Given the description of an element on the screen output the (x, y) to click on. 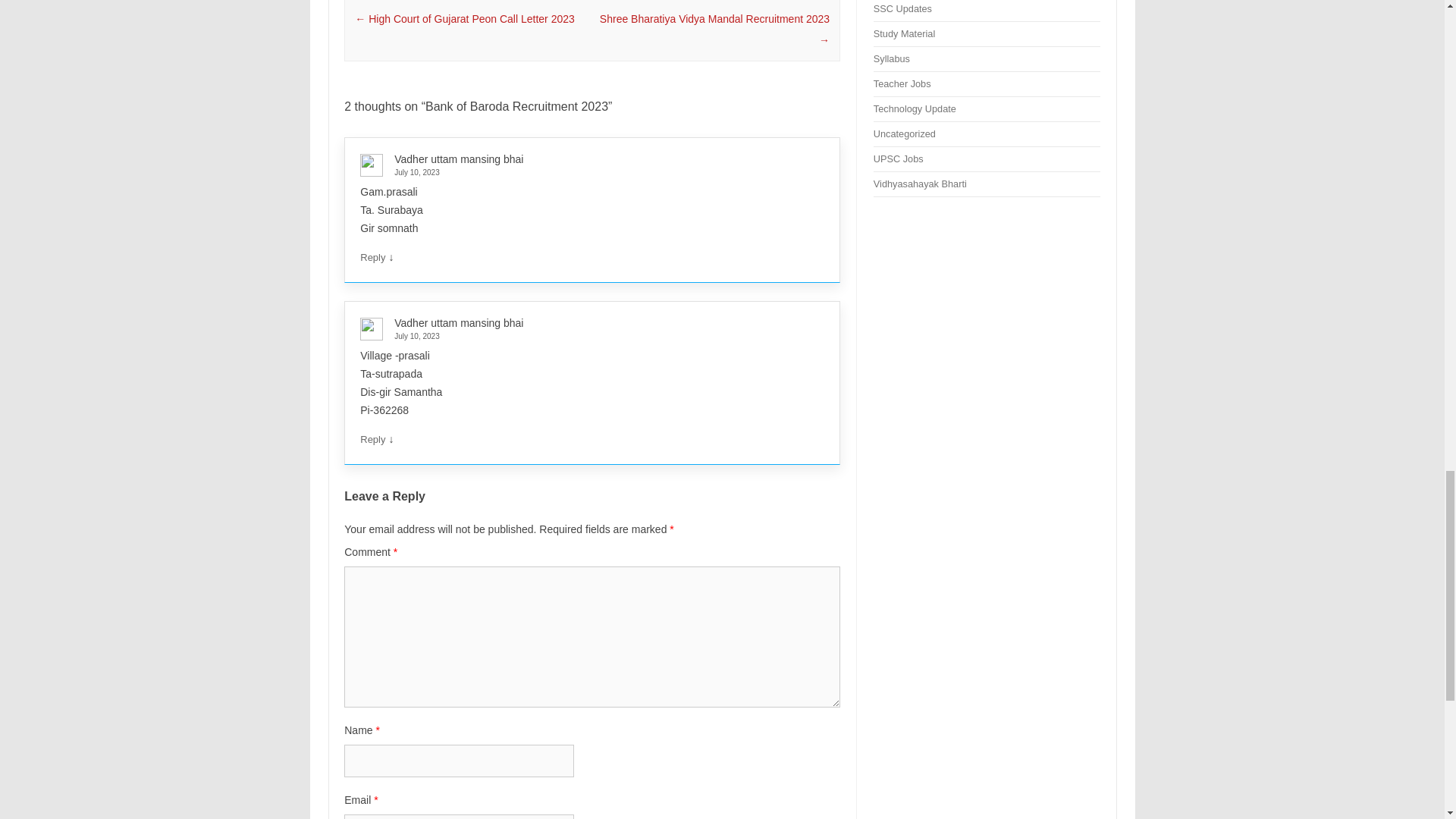
Reply (372, 439)
July 10, 2023 (585, 336)
July 10, 2023 (585, 172)
Reply (372, 256)
